Given the description of an element on the screen output the (x, y) to click on. 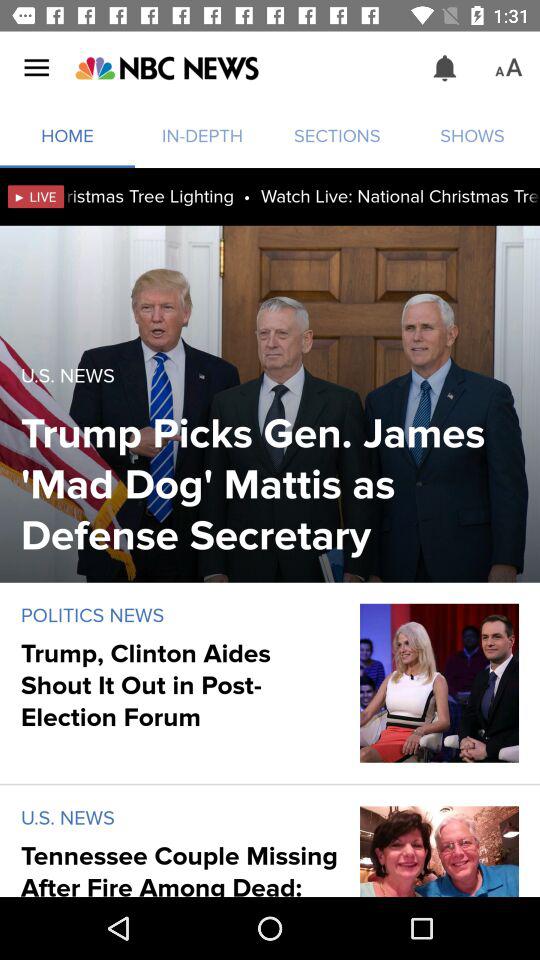
launch the icon next to sections item (166, 68)
